Given the description of an element on the screen output the (x, y) to click on. 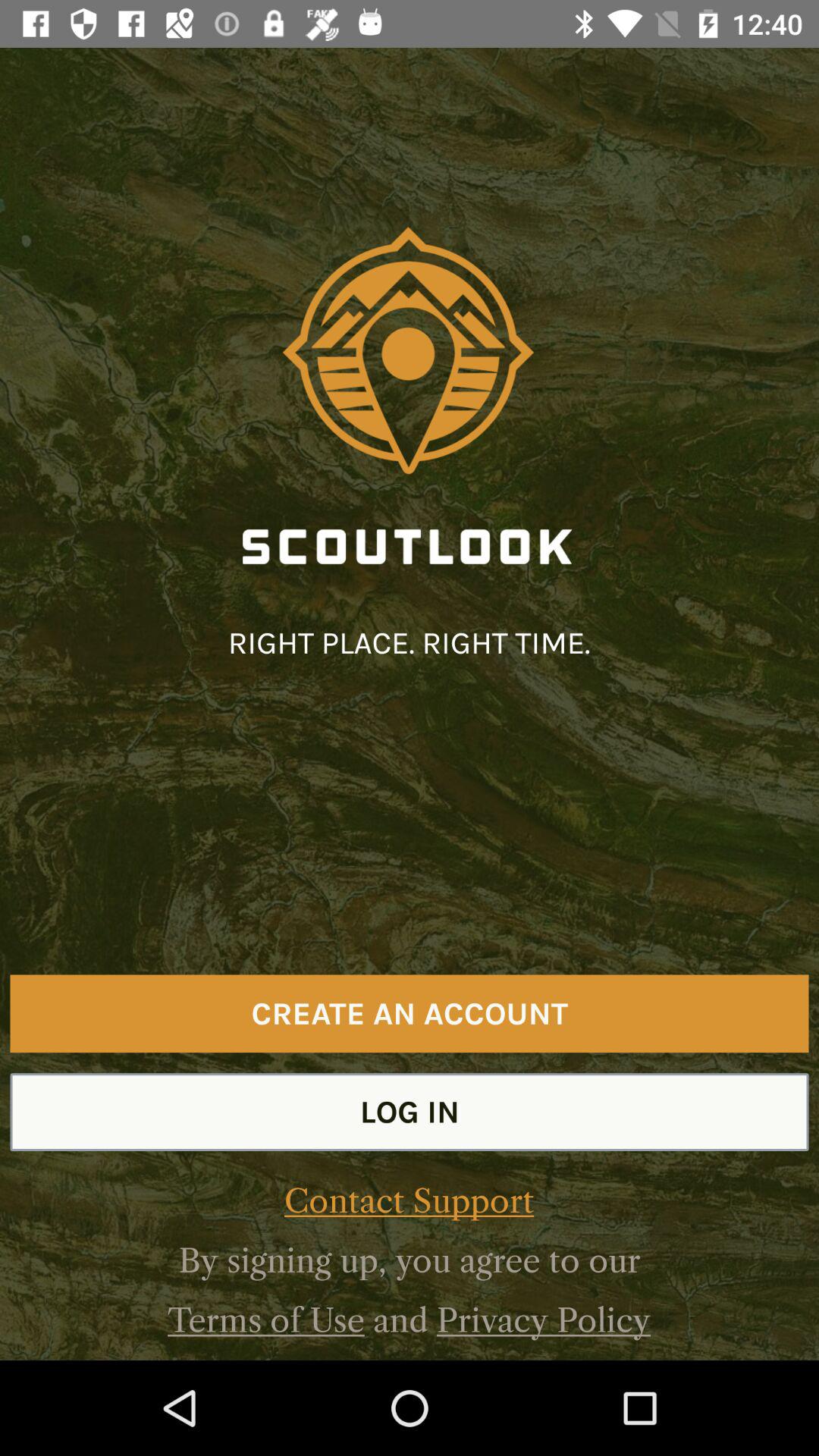
jump to the terms of use icon (265, 1320)
